Given the description of an element on the screen output the (x, y) to click on. 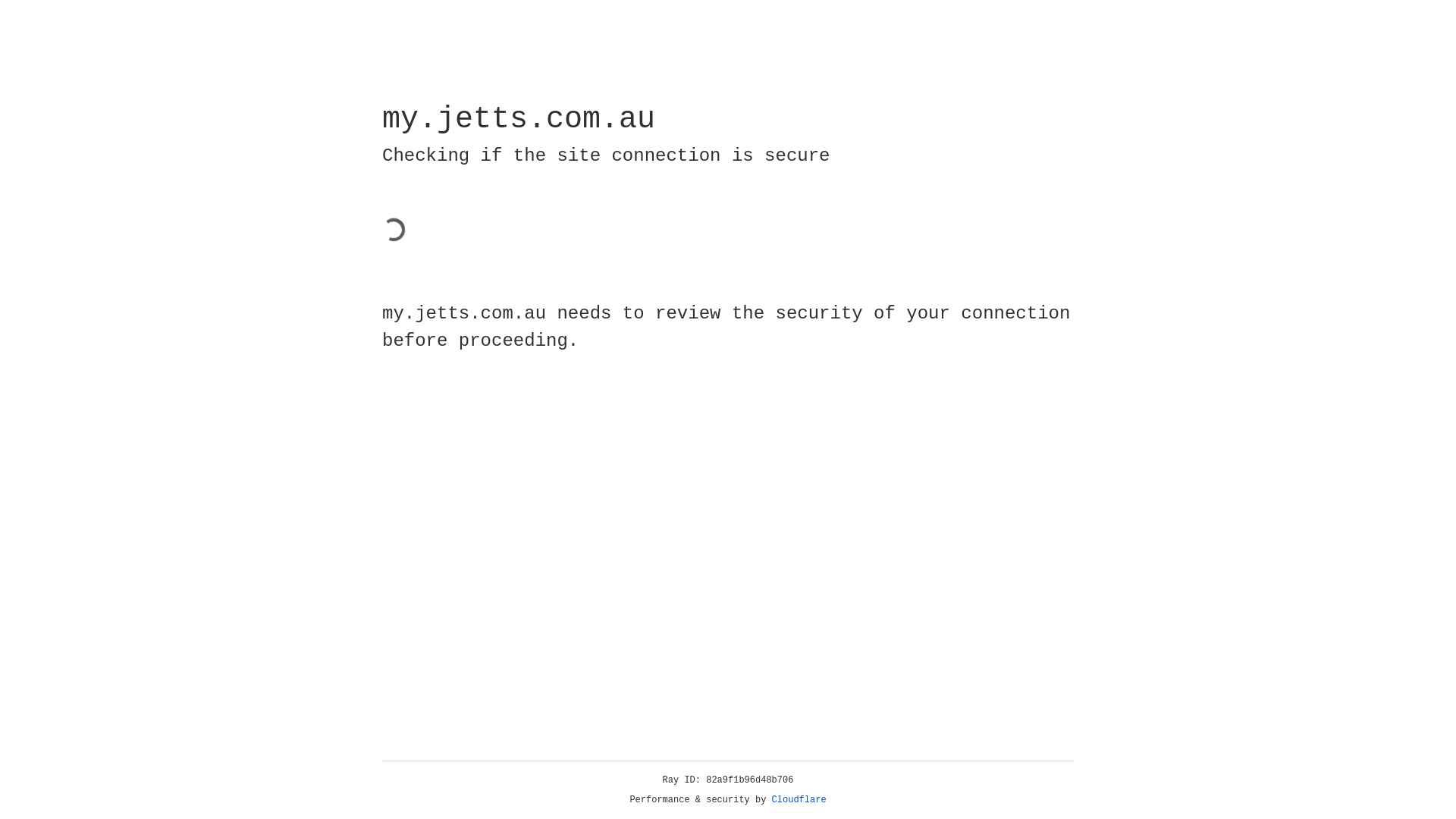
Cloudflare Element type: text (798, 799)
